Given the description of an element on the screen output the (x, y) to click on. 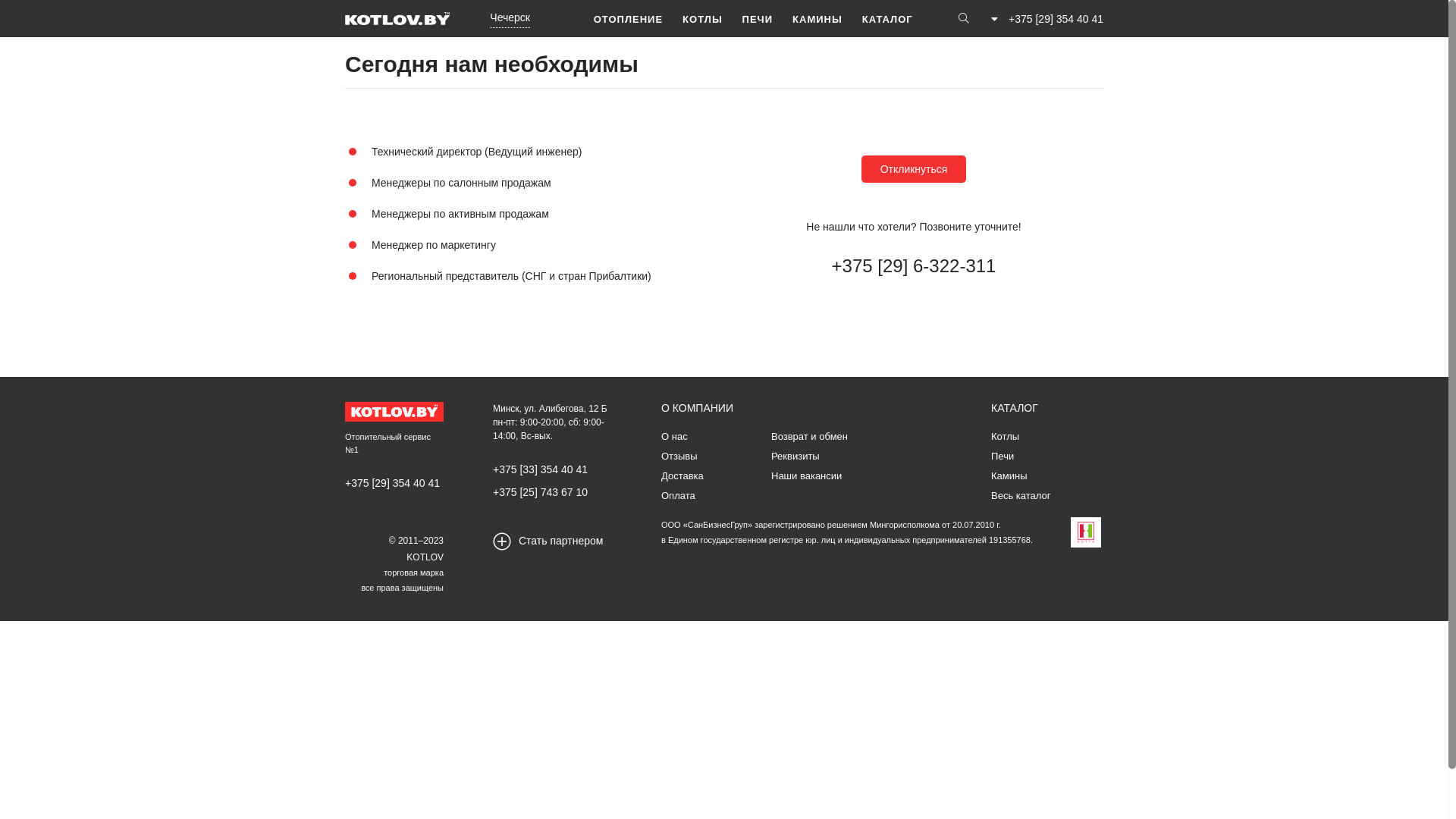
+375 [25] 743 67 10 Element type: text (539, 492)
+375 [29] 354 40 41 Element type: text (392, 482)
+375 [33] 354 40 41 Element type: text (539, 469)
